Given the description of an element on the screen output the (x, y) to click on. 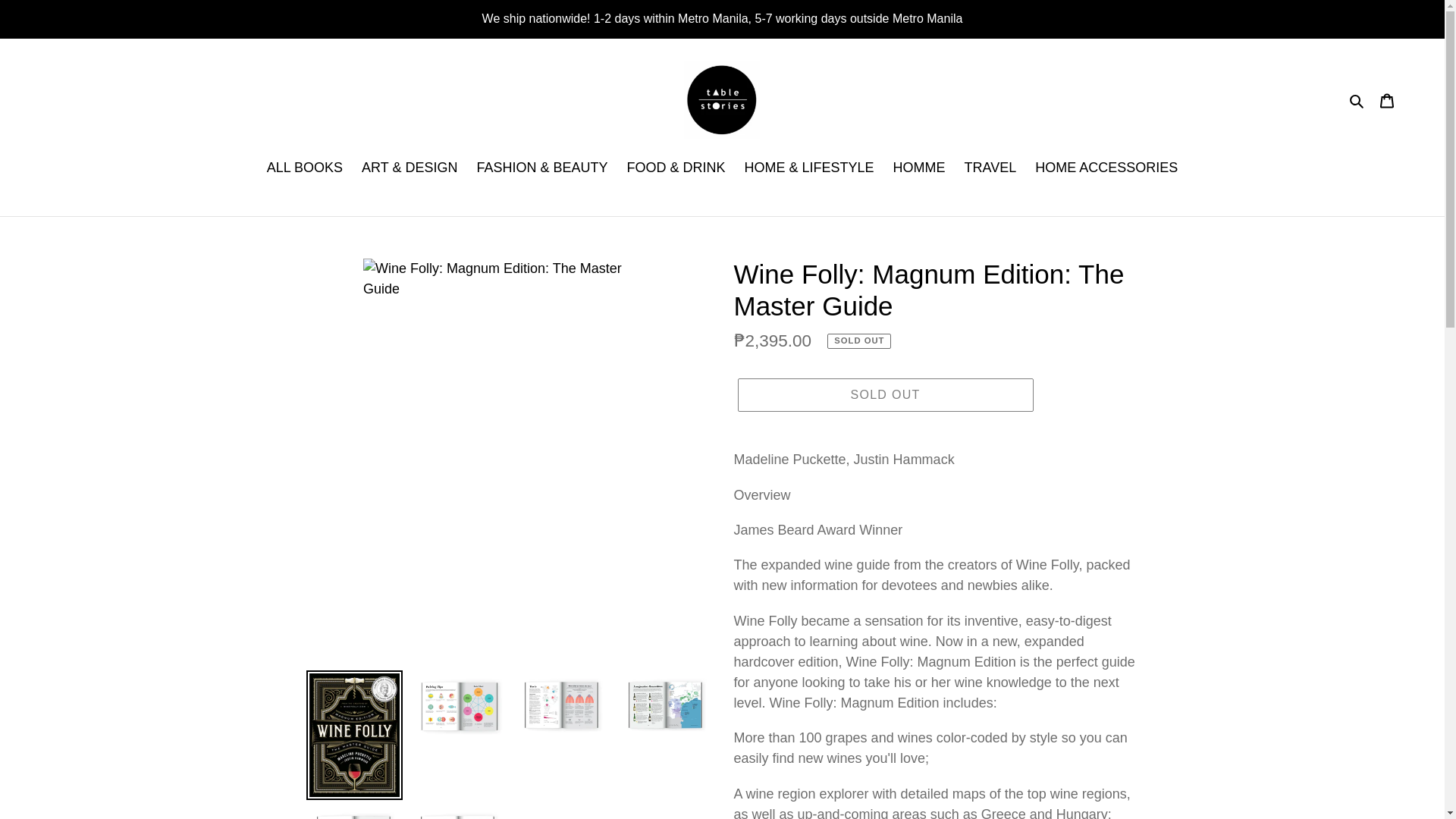
Cart (1387, 99)
HOMME (919, 169)
TRAVEL (990, 169)
HOME ACCESSORIES (1106, 169)
ALL BOOKS (304, 169)
SOLD OUT (884, 394)
Search (1357, 100)
